Given the description of an element on the screen output the (x, y) to click on. 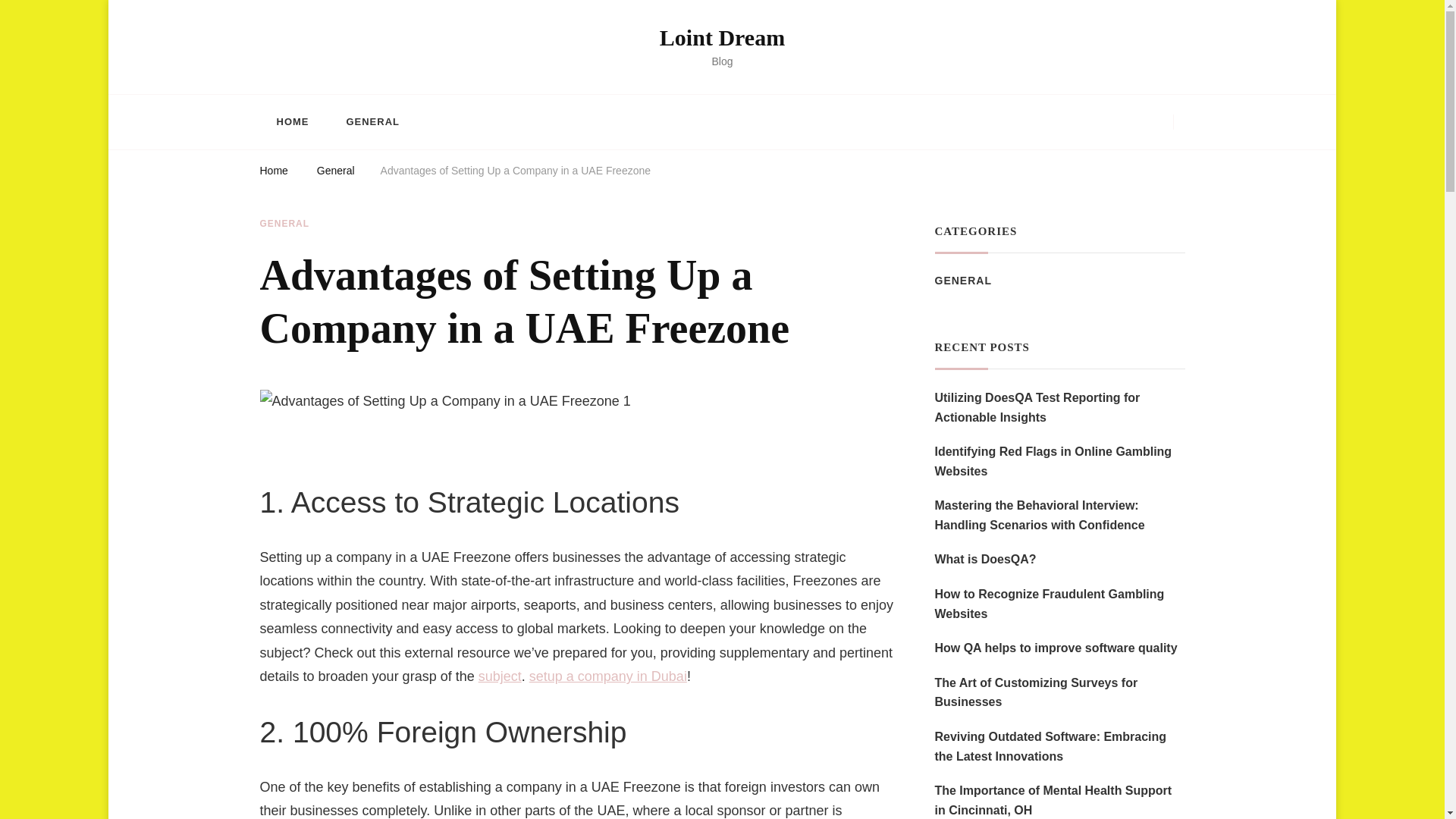
Utilizing DoesQA Test Reporting for Actionable Insights (1059, 407)
Loint Dream (721, 37)
General (336, 172)
Advantages of Setting Up a Company in a UAE Freezone (515, 172)
GENERAL (371, 121)
GENERAL (283, 223)
subject (500, 676)
Home (272, 172)
GENERAL (962, 280)
